Given the description of an element on the screen output the (x, y) to click on. 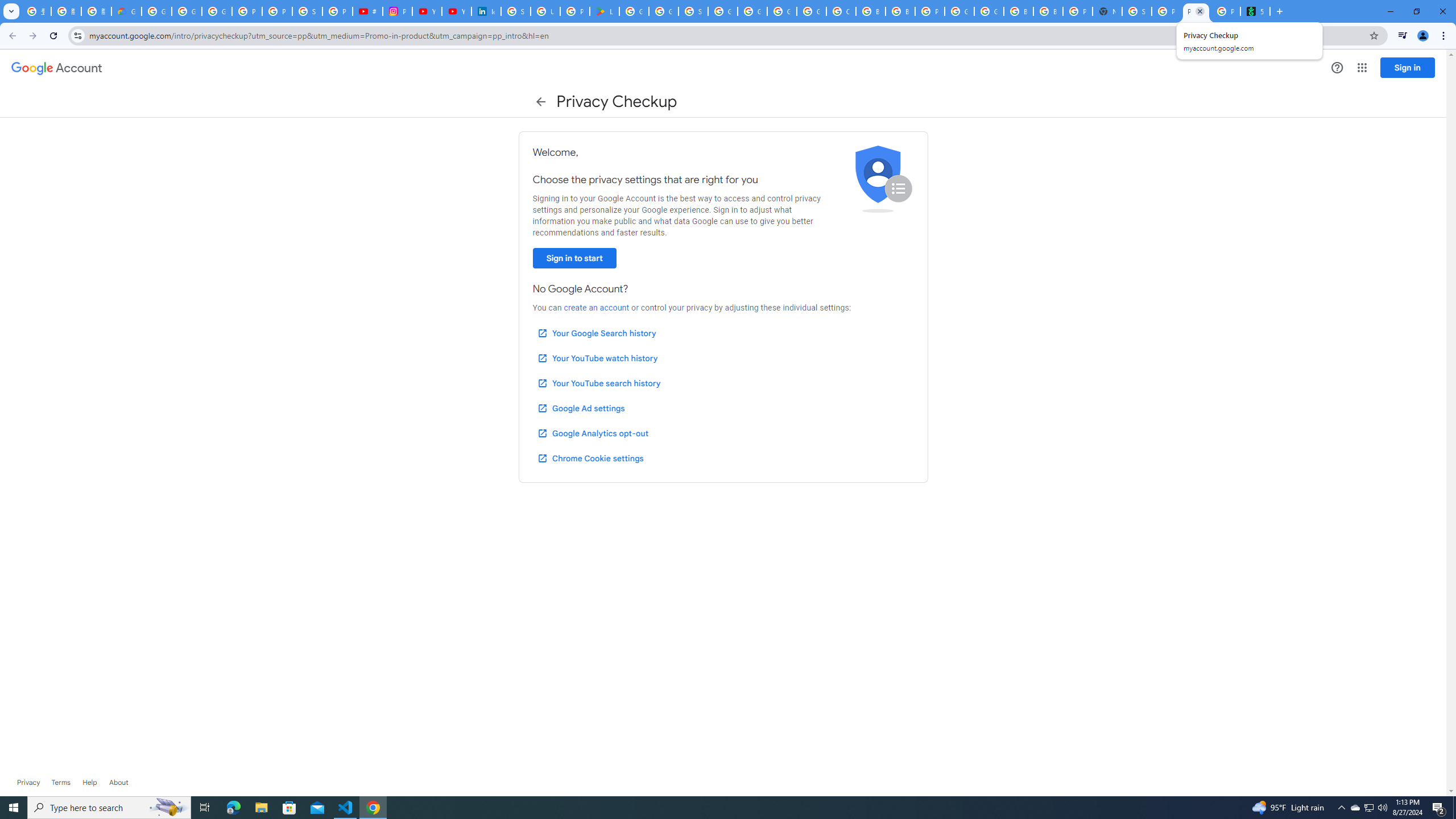
Privacy Help Center - Policies Help (277, 11)
Privacy Checkup (1195, 11)
Browse Chrome as a guest - Computer - Google Chrome Help (1047, 11)
Google Workspace - Specific Terms (663, 11)
Last Shelter: Survival - Apps on Google Play (604, 11)
Sign in - Google Accounts (692, 11)
Sign in - Google Accounts (1136, 11)
Google Analytics opt-out (592, 433)
